Given the description of an element on the screen output the (x, y) to click on. 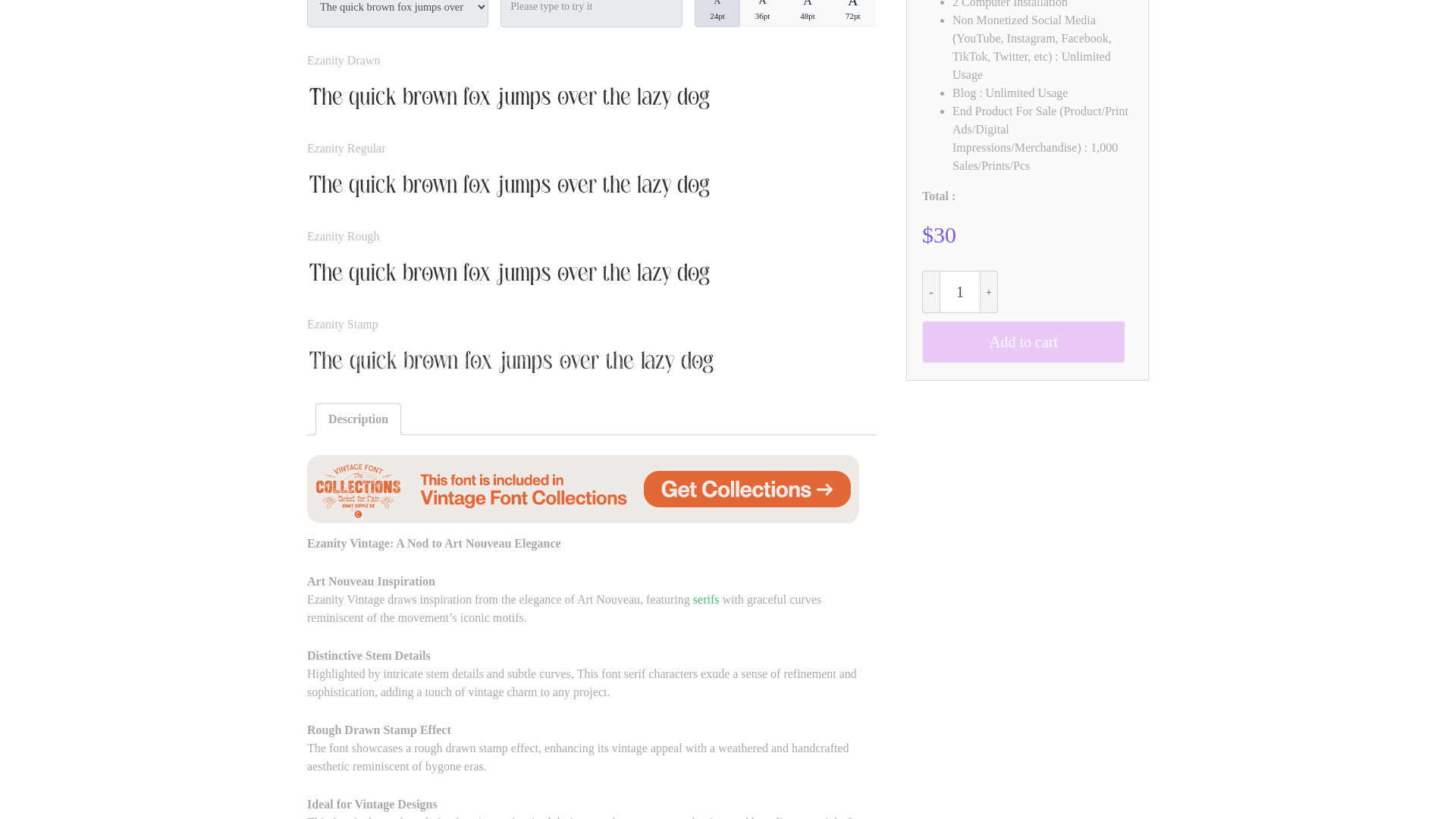
1 (959, 291)
Description (358, 419)
serifs (706, 599)
